Given the description of an element on the screen output the (x, y) to click on. 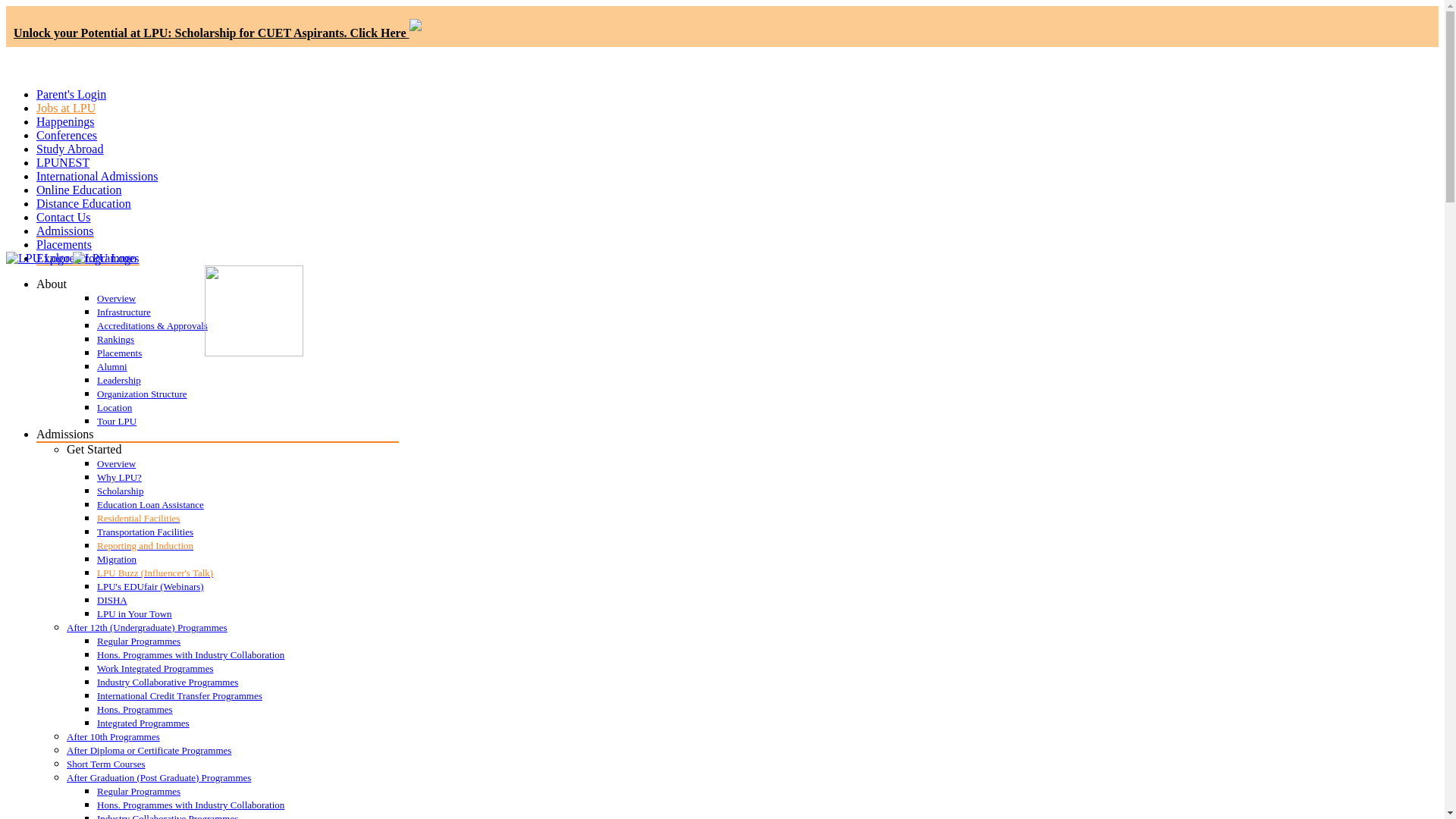
Location (247, 408)
LPU in Your Town (247, 613)
Reporting and Induction (247, 545)
Transportation Facilities (247, 532)
Tour LPU (247, 421)
Explore Programmes (87, 258)
Leadership (247, 380)
Happenings (65, 121)
Distance Education (83, 203)
LPUNEST (62, 162)
Placements (63, 244)
Admissions (65, 231)
Alumni (247, 367)
Overview (247, 463)
DISHA (247, 600)
